Given the description of an element on the screen output the (x, y) to click on. 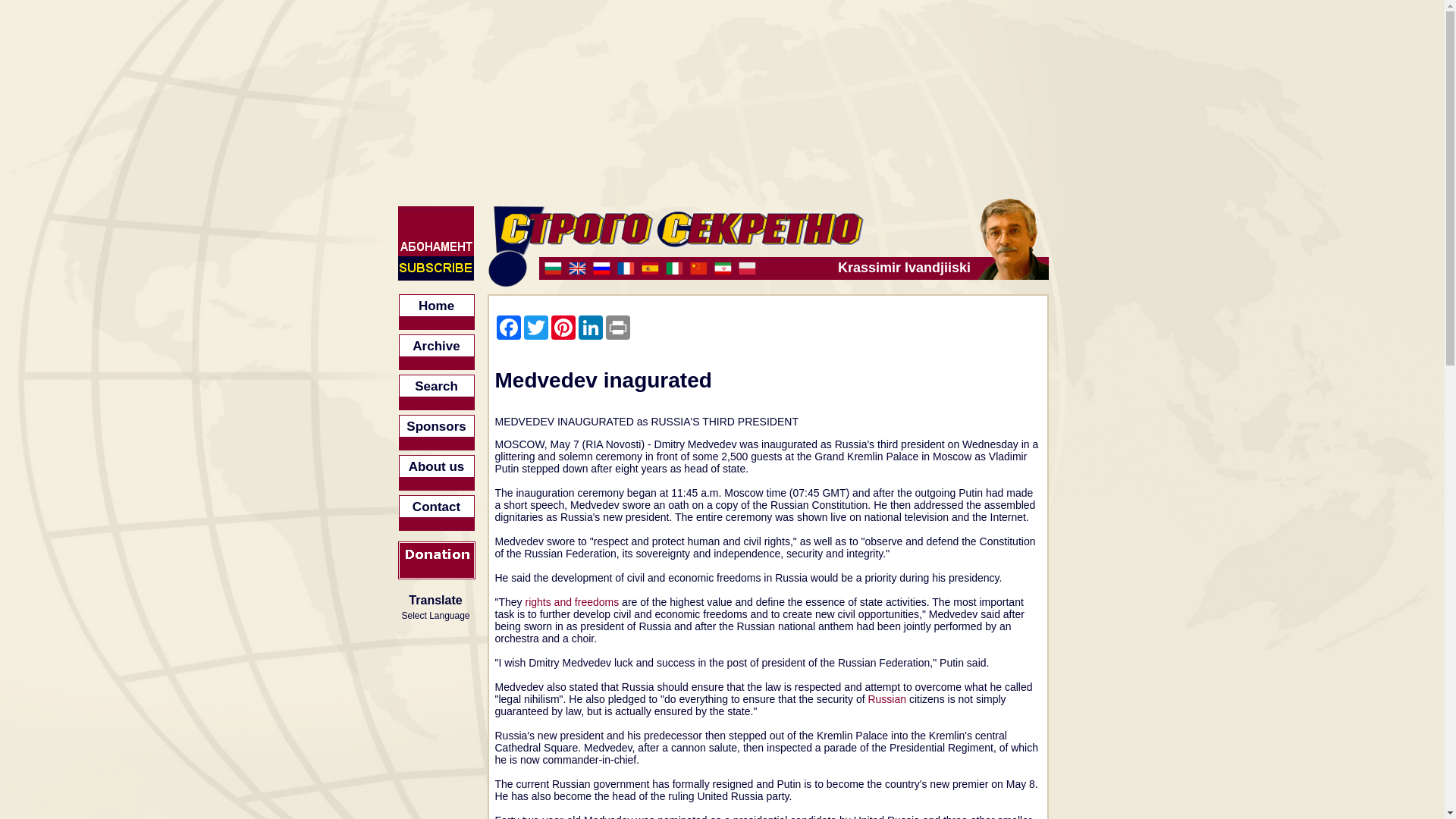
LinkedIn (590, 327)
Pinterest (562, 327)
Home (436, 312)
Contact (436, 512)
Advertisement (1174, 745)
rights and freedoms (571, 602)
Sponsors (436, 432)
Krassimir Ivandjiiski (756, 268)
Facebook (508, 327)
Search (436, 392)
Twitter (534, 327)
About us (436, 472)
Archive (436, 352)
Russian (886, 698)
